Given the description of an element on the screen output the (x, y) to click on. 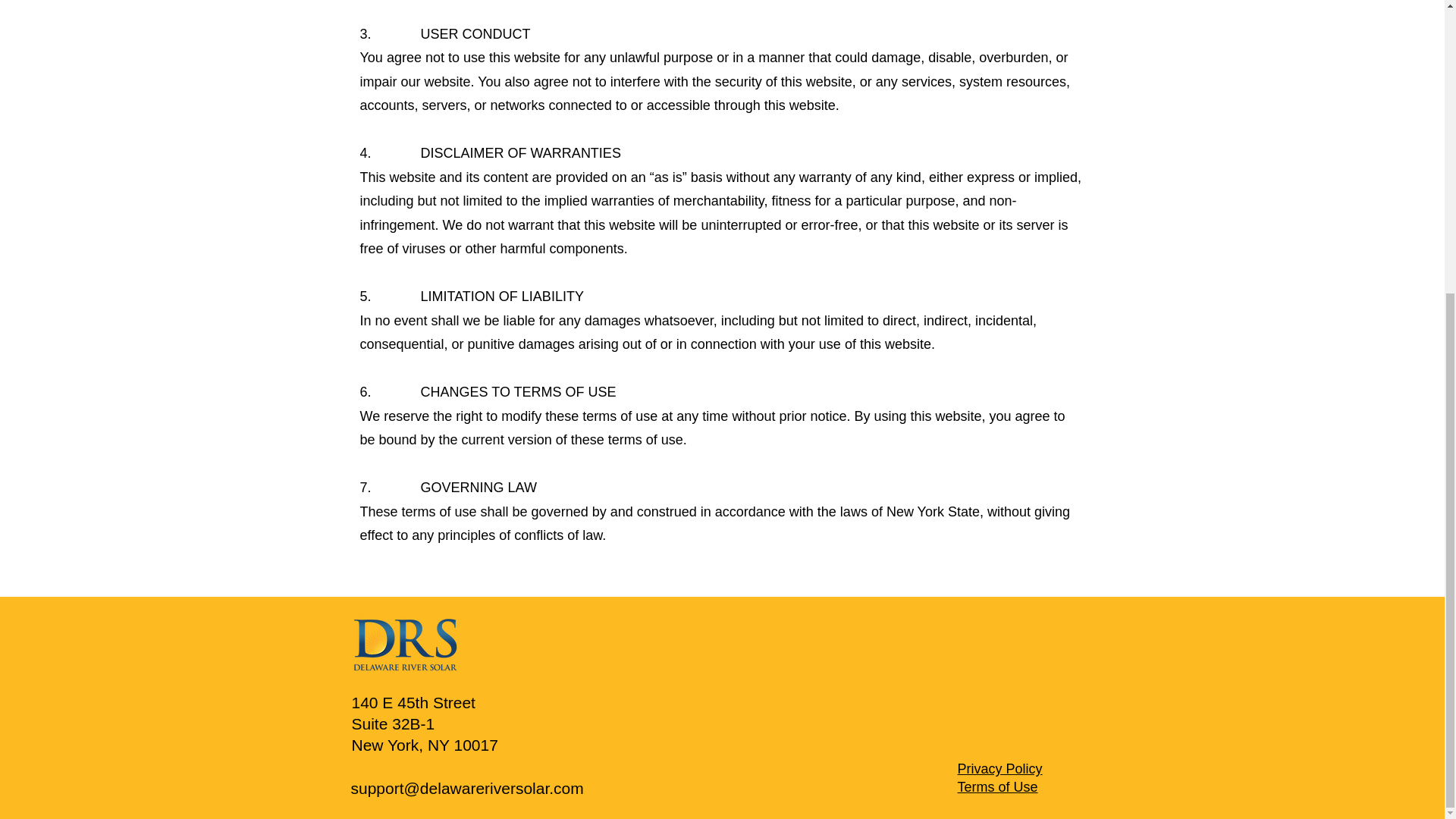
Terms of Use (996, 786)
Privacy Policy (999, 768)
